Given the description of an element on the screen output the (x, y) to click on. 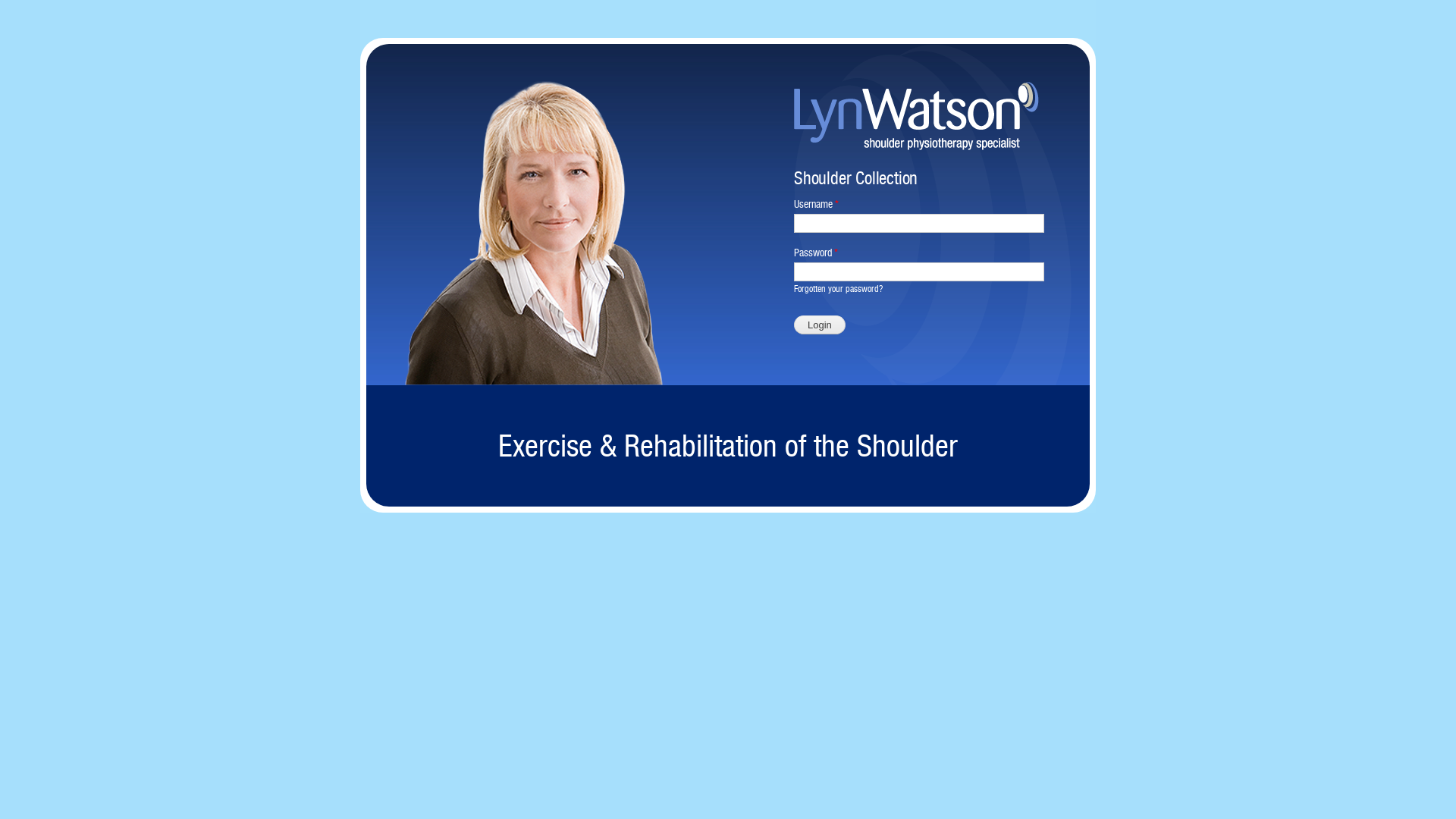
Forgotten your password? Element type: text (837, 288)
Skip to main content Element type: text (695, 1)
Login Element type: text (819, 324)
